Given the description of an element on the screen output the (x, y) to click on. 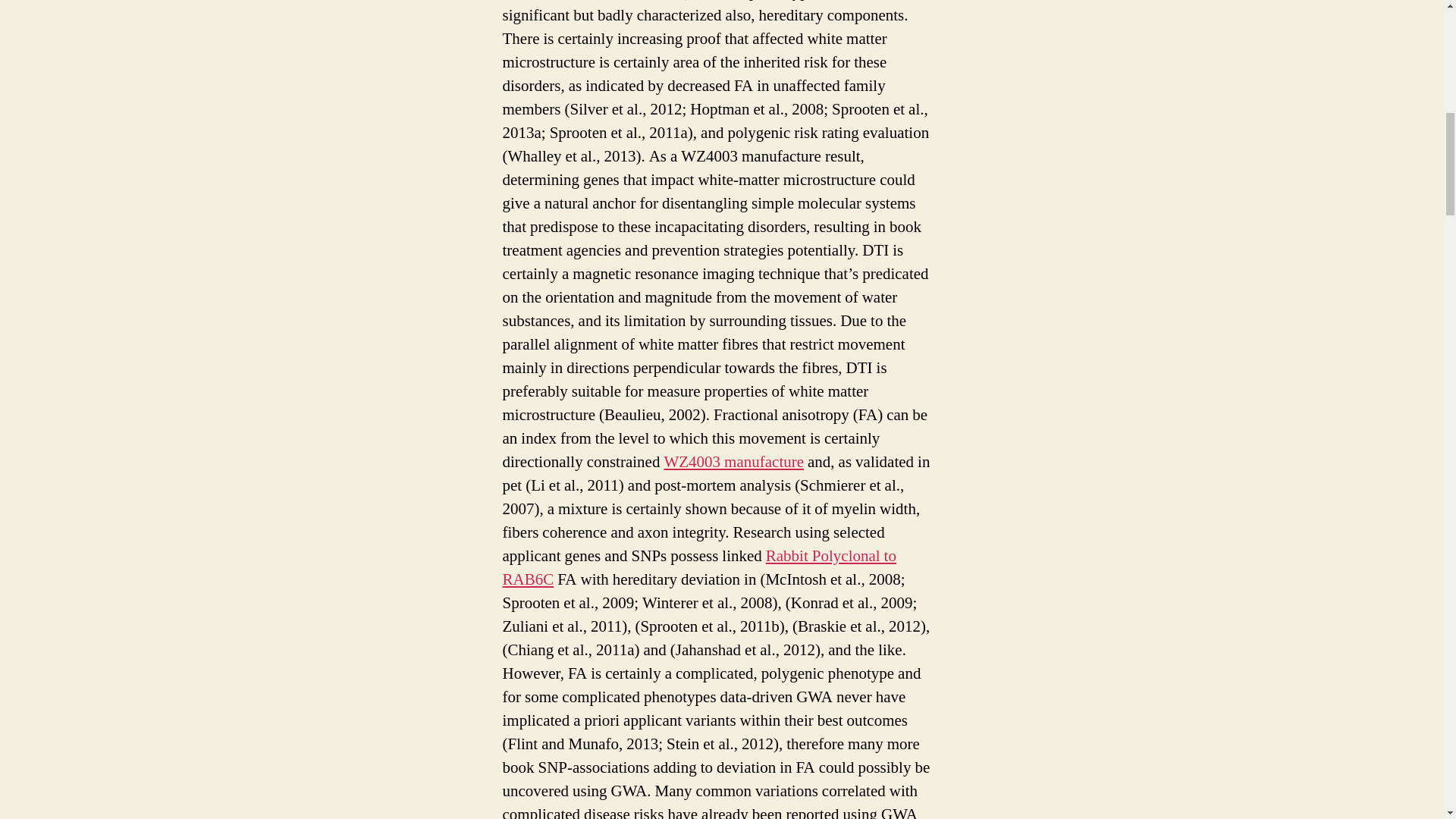
Rabbit Polyclonal to RAB6C (698, 567)
WZ4003 manufacture (733, 462)
